Given the description of an element on the screen output the (x, y) to click on. 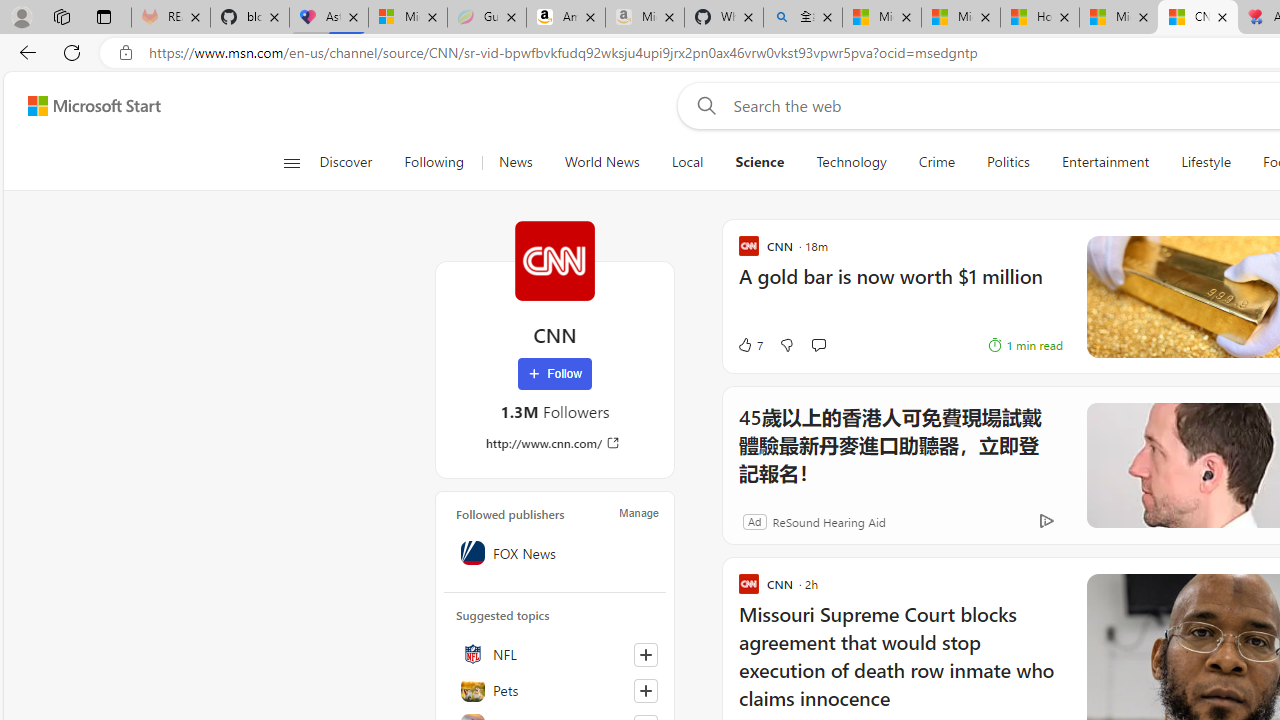
A gold bar is now worth $1 million (900, 286)
ReSound Hearing Aid (828, 520)
Open navigation menu (291, 162)
Pets (555, 690)
Follow (554, 373)
